Given the description of an element on the screen output the (x, y) to click on. 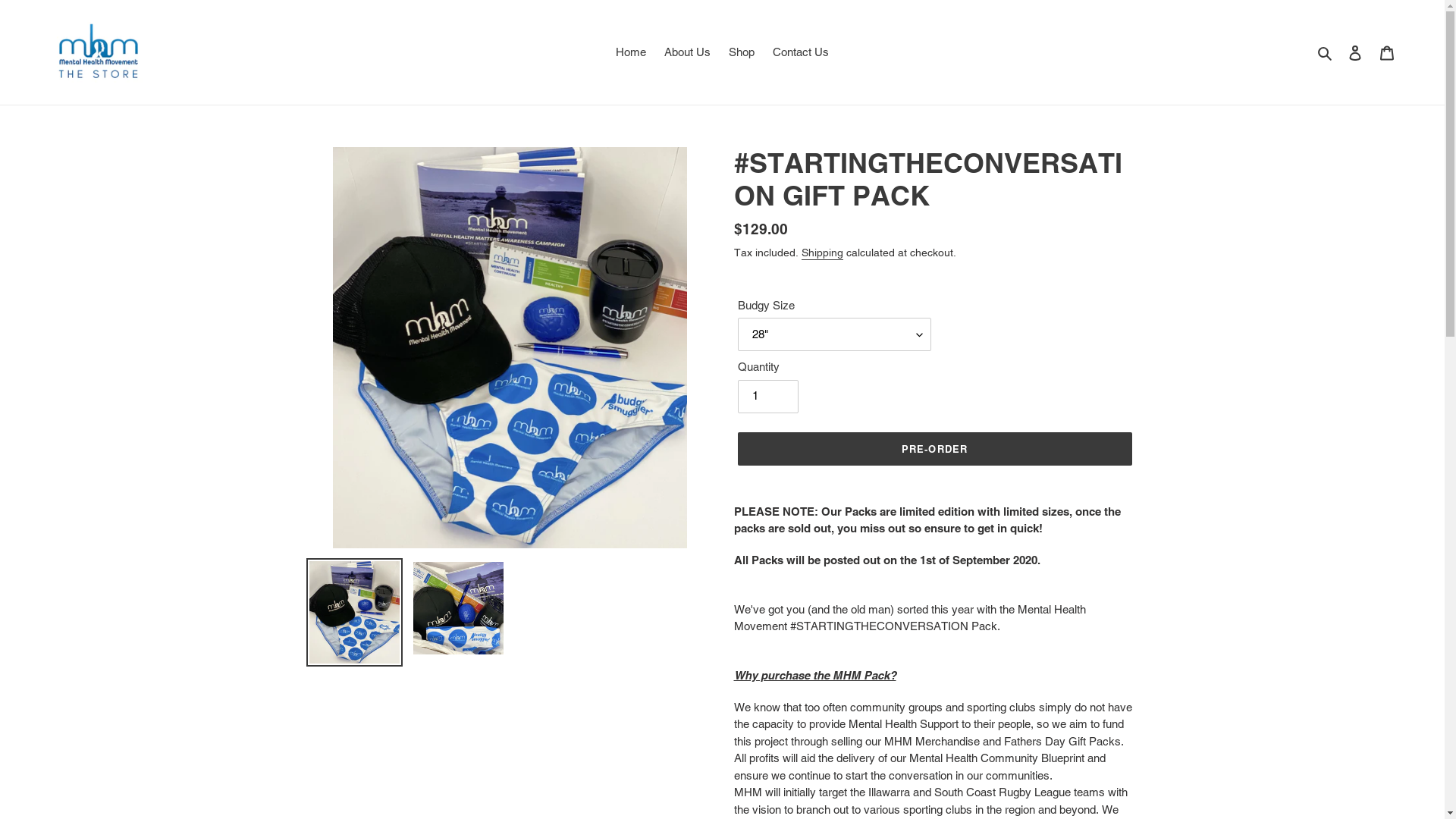
Home Element type: text (630, 51)
Shop Element type: text (741, 51)
Search Element type: text (1325, 51)
About Us Element type: text (687, 51)
Log in Element type: text (1355, 52)
Contact Us Element type: text (800, 51)
PRE-ORDER Element type: text (934, 447)
Shipping Element type: text (821, 252)
Cart Element type: text (1386, 52)
